Given the description of an element on the screen output the (x, y) to click on. 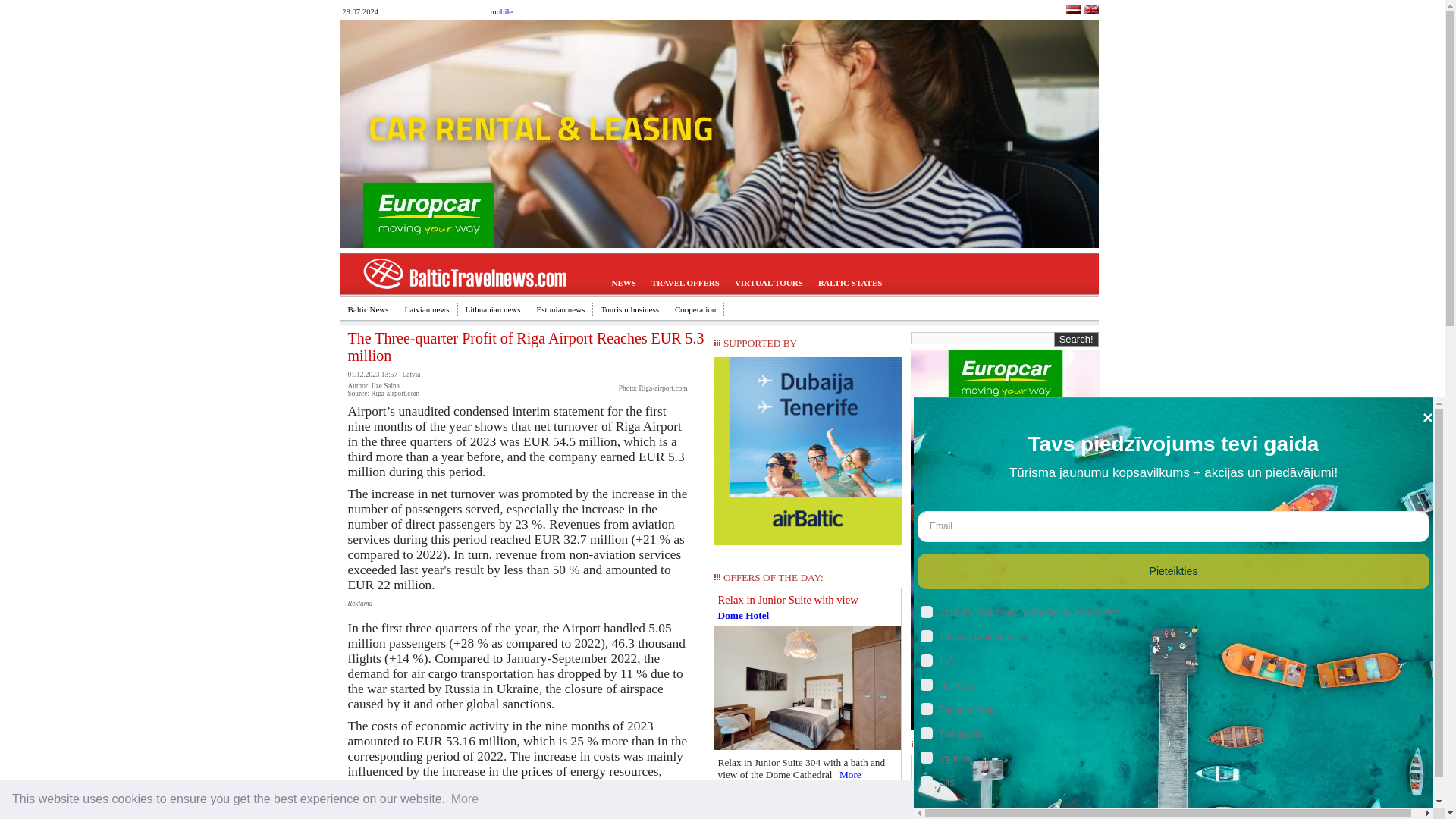
Tourism business (629, 309)
TRAVEL OFFERS (684, 284)
Baltic News (367, 309)
Relax in Junior Suite with view Dome Hotel (806, 599)
Latvian news (427, 309)
TravelNews.lv (1072, 11)
Baltictravelnews.com (1090, 11)
Advertisement (807, 816)
mobile (500, 11)
Relax in Junior Suite with view Dome Hotel (807, 687)
More (464, 798)
Cooperation (694, 309)
Latvia (411, 374)
NEWS (623, 284)
Lithuanian news (493, 309)
